Given the description of an element on the screen output the (x, y) to click on. 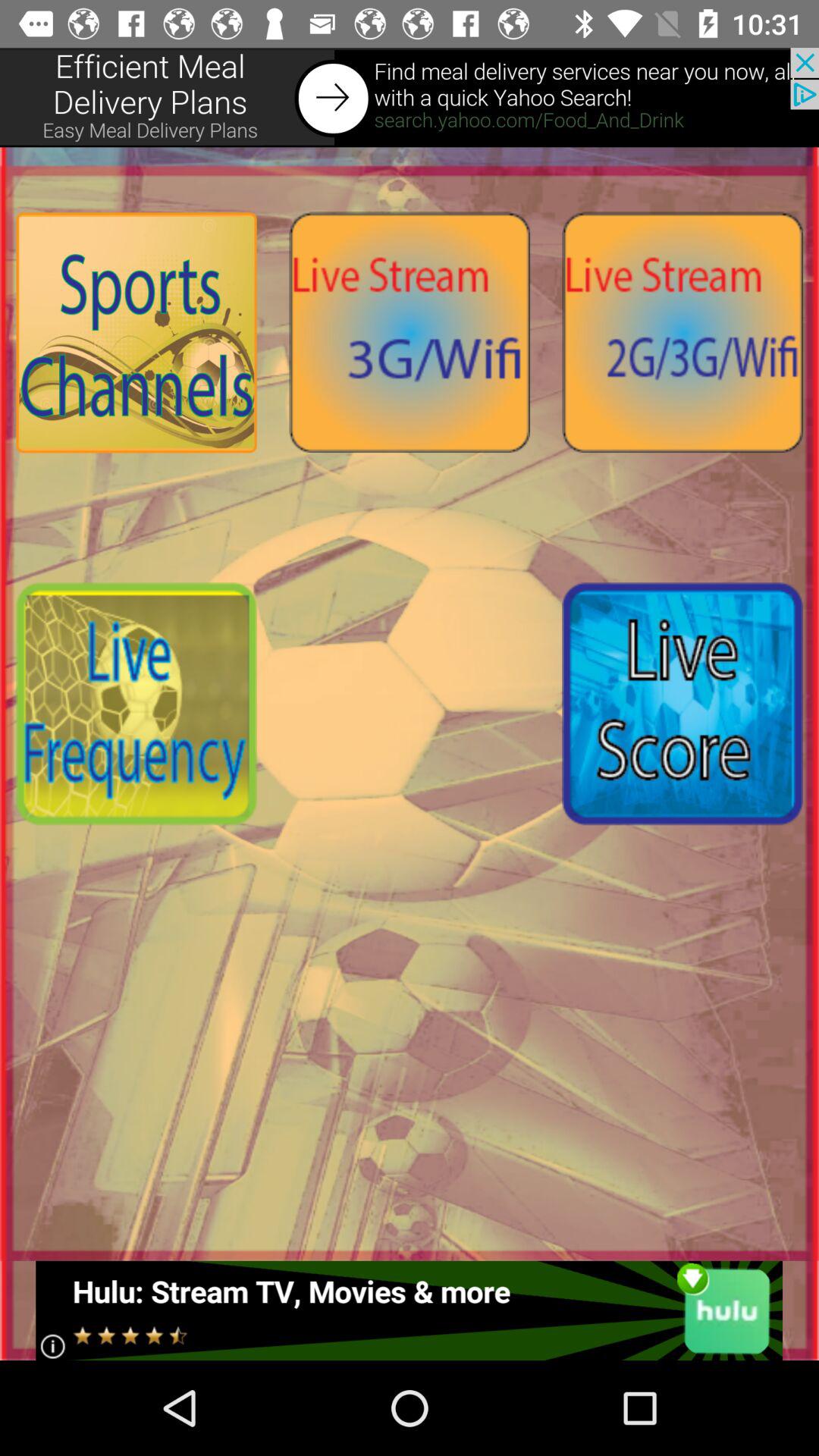
live (682, 703)
